Given the description of an element on the screen output the (x, y) to click on. 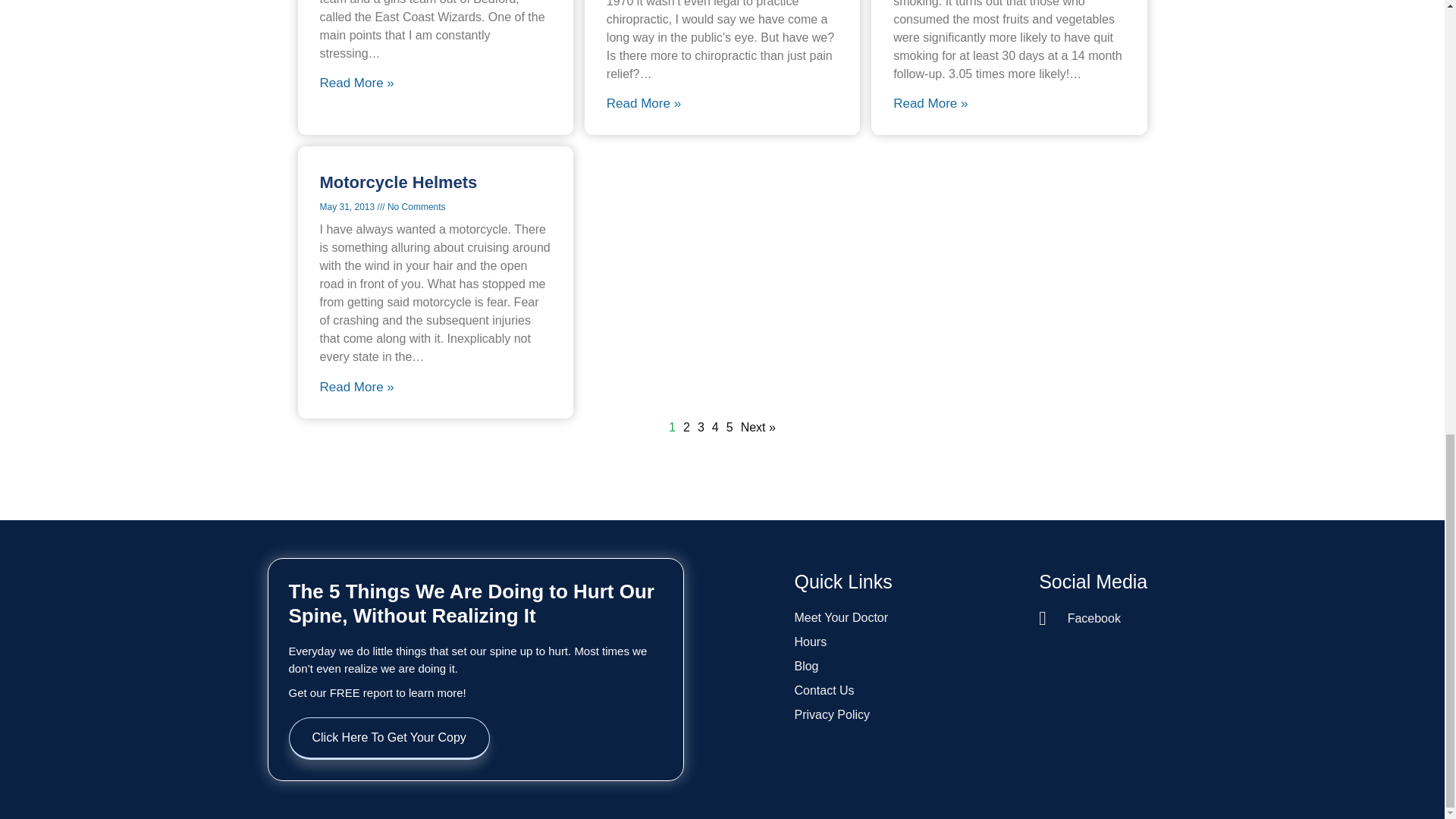
Meet Your Doctor (908, 618)
Click Here To Get Your Copy (388, 738)
May 31, 2013 (348, 206)
Motorcycle Helmets (398, 181)
